Given the description of an element on the screen output the (x, y) to click on. 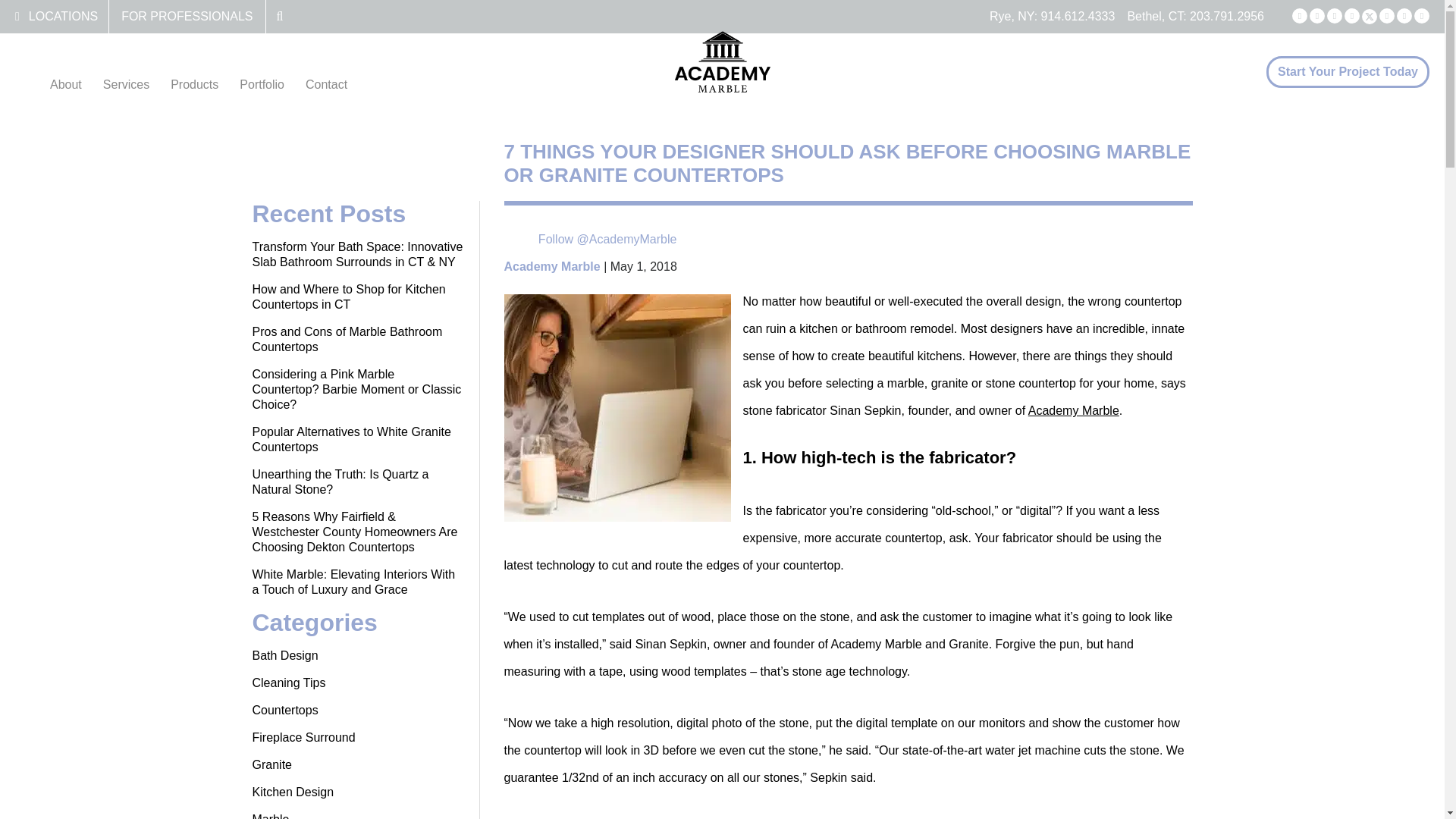
914.612.4333 (1078, 15)
FOR PROFESSIONALS (185, 15)
203.791.2956 (1226, 15)
LOCATIONS (63, 15)
